Given the description of an element on the screen output the (x, y) to click on. 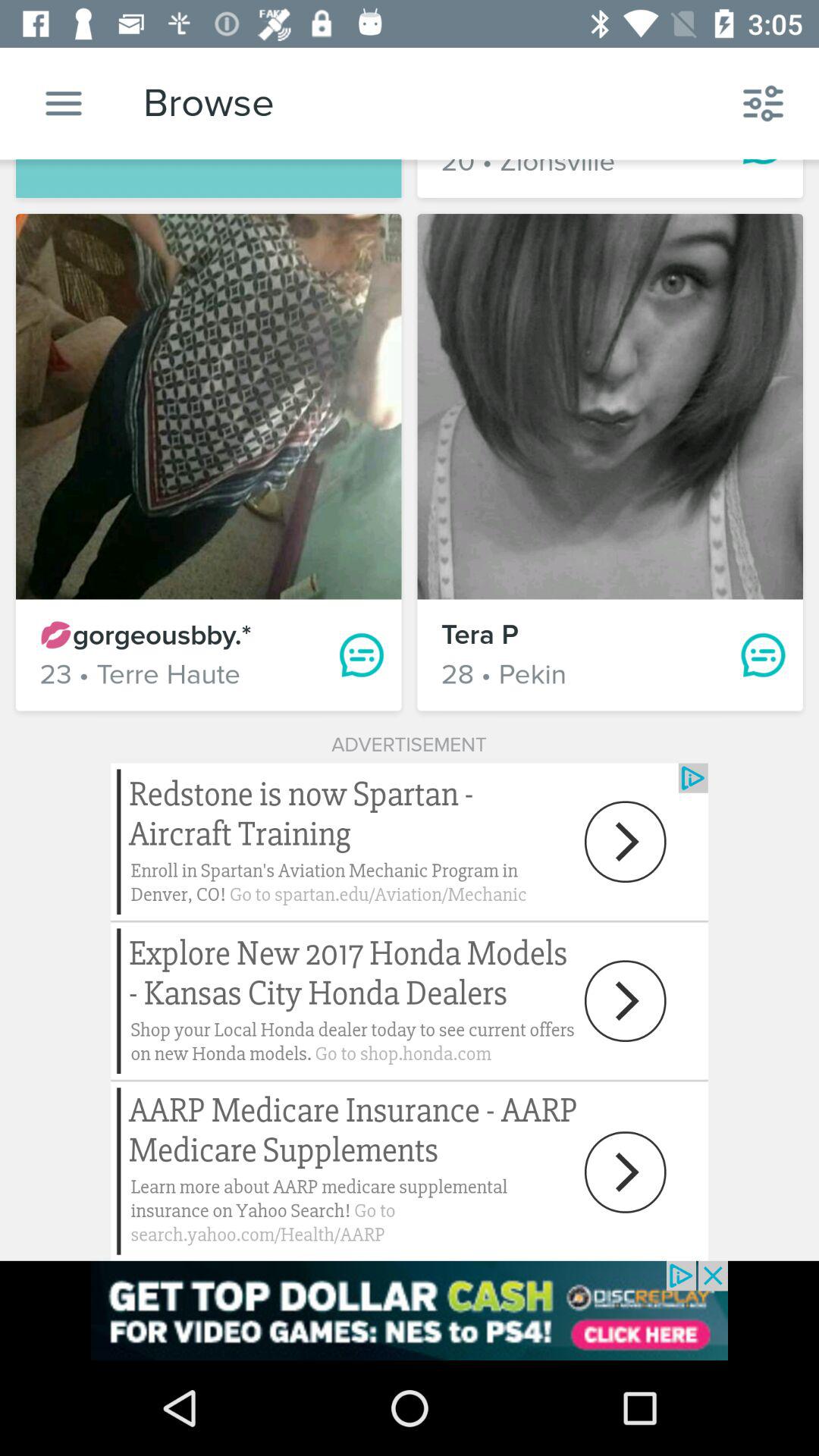
advertisement next (409, 1011)
